Given the description of an element on the screen output the (x, y) to click on. 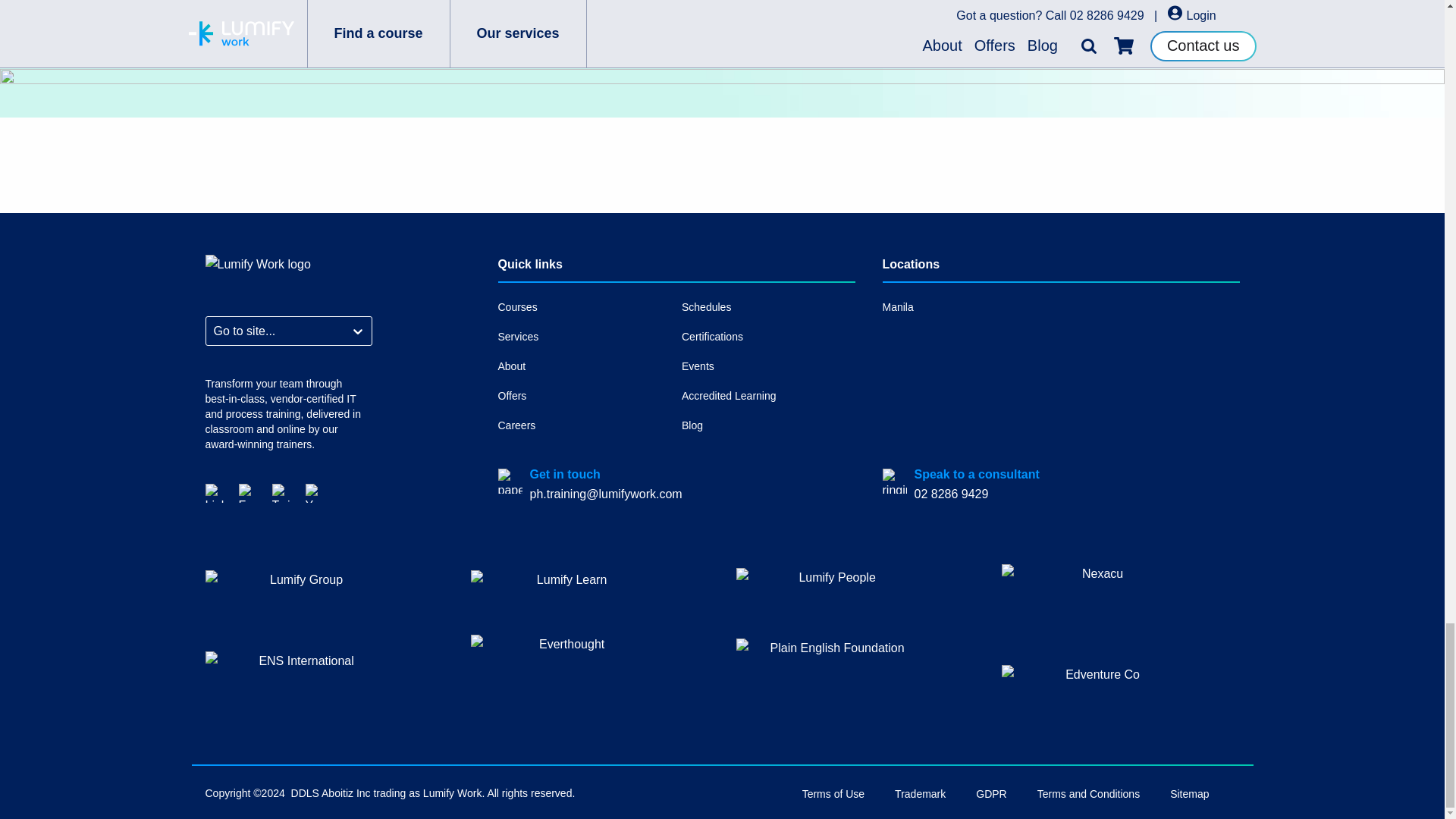
LinkedIn (213, 492)
Facebook (247, 492)
View all Business Applications courses (721, 3)
YouTube (313, 492)
Schedules (768, 307)
Offers (584, 395)
Careers (584, 425)
Courses (584, 307)
Twitter (279, 492)
Certifications (768, 336)
Services (584, 336)
About (584, 366)
